Given the description of an element on the screen output the (x, y) to click on. 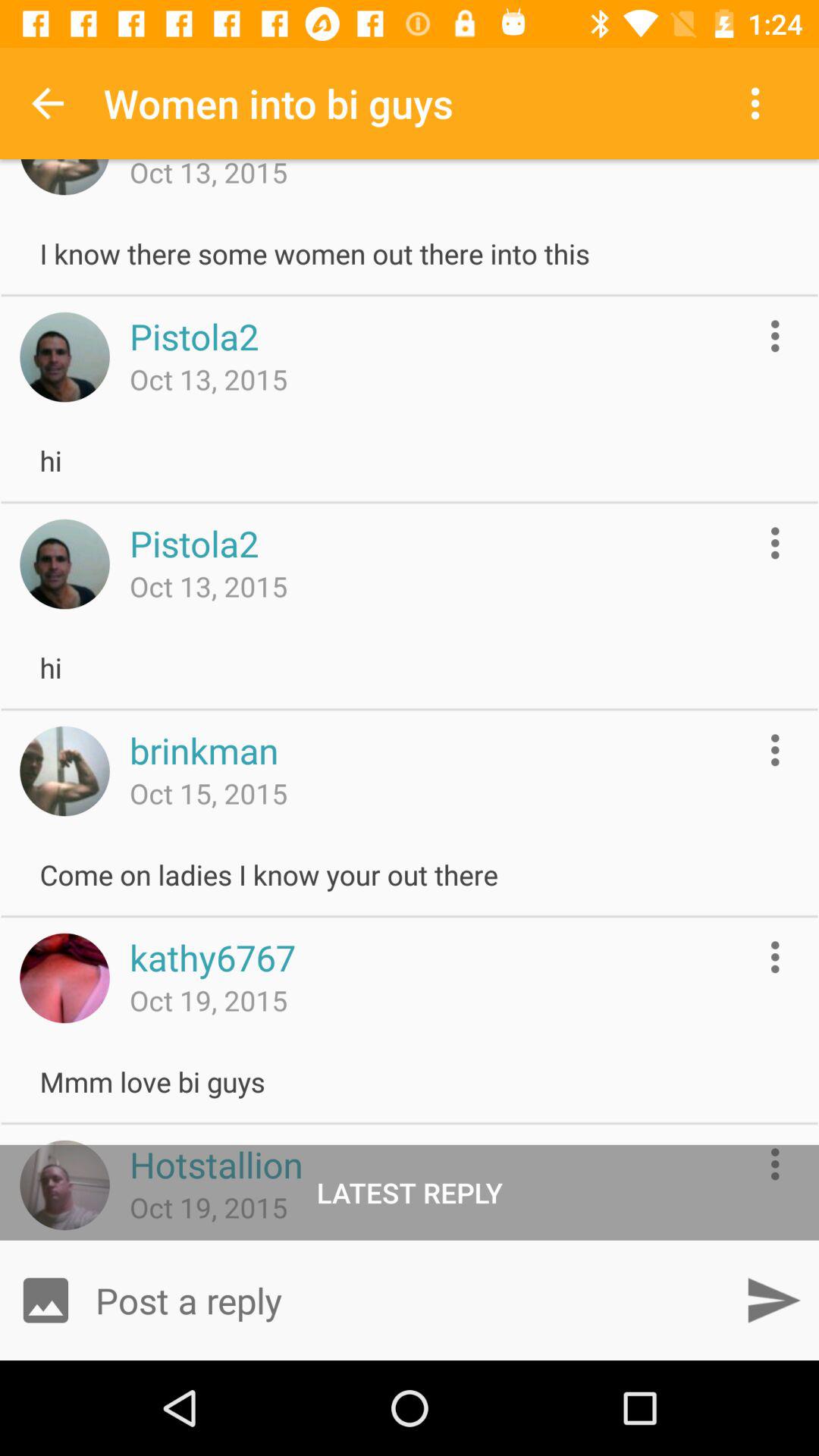
open message options menu (775, 750)
